Given the description of an element on the screen output the (x, y) to click on. 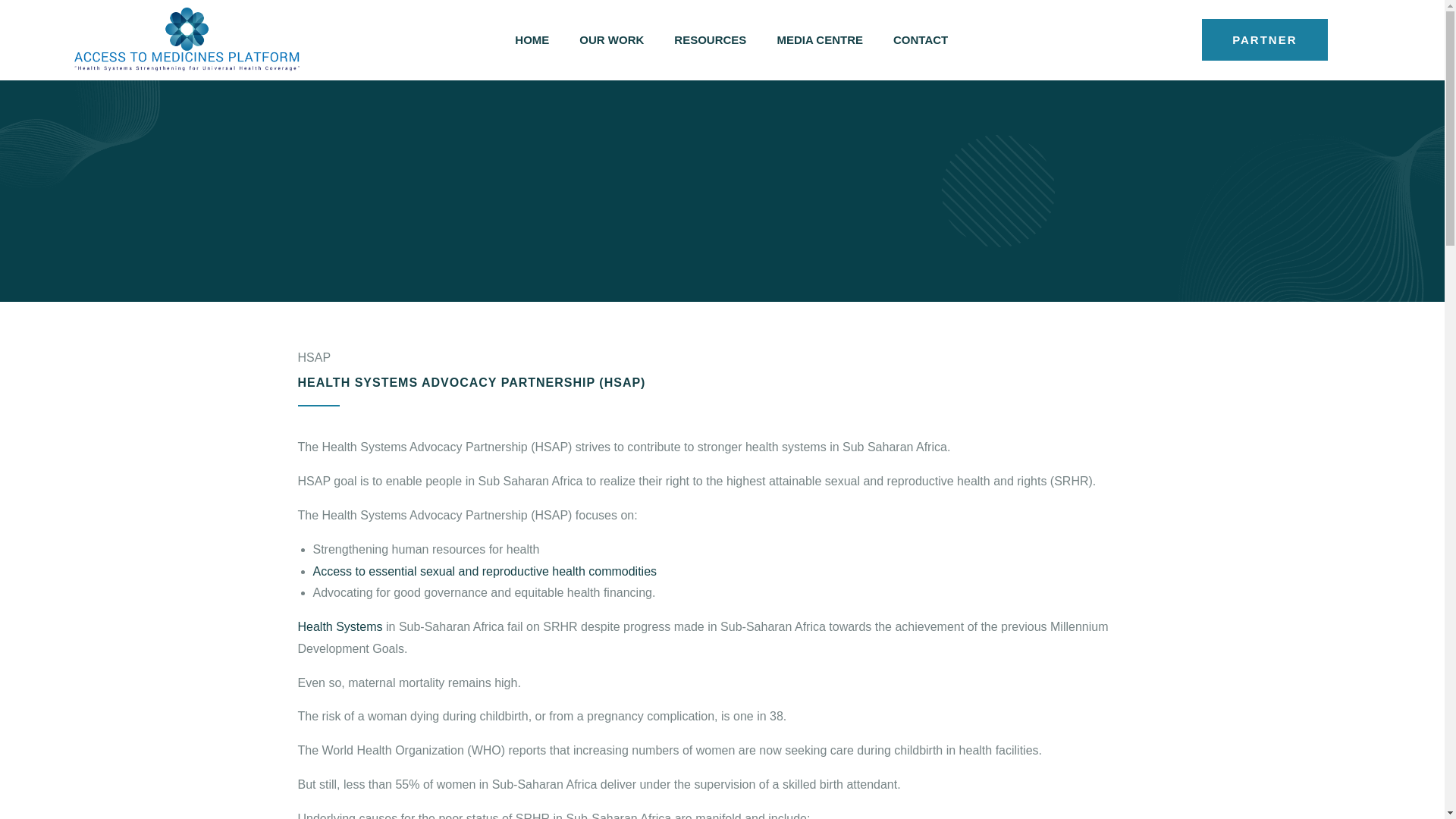
CONTACT (919, 39)
RESOURCES (710, 39)
HOME (531, 39)
OUR WORK (611, 39)
MEDIA CENTRE (819, 39)
